Given the description of an element on the screen output the (x, y) to click on. 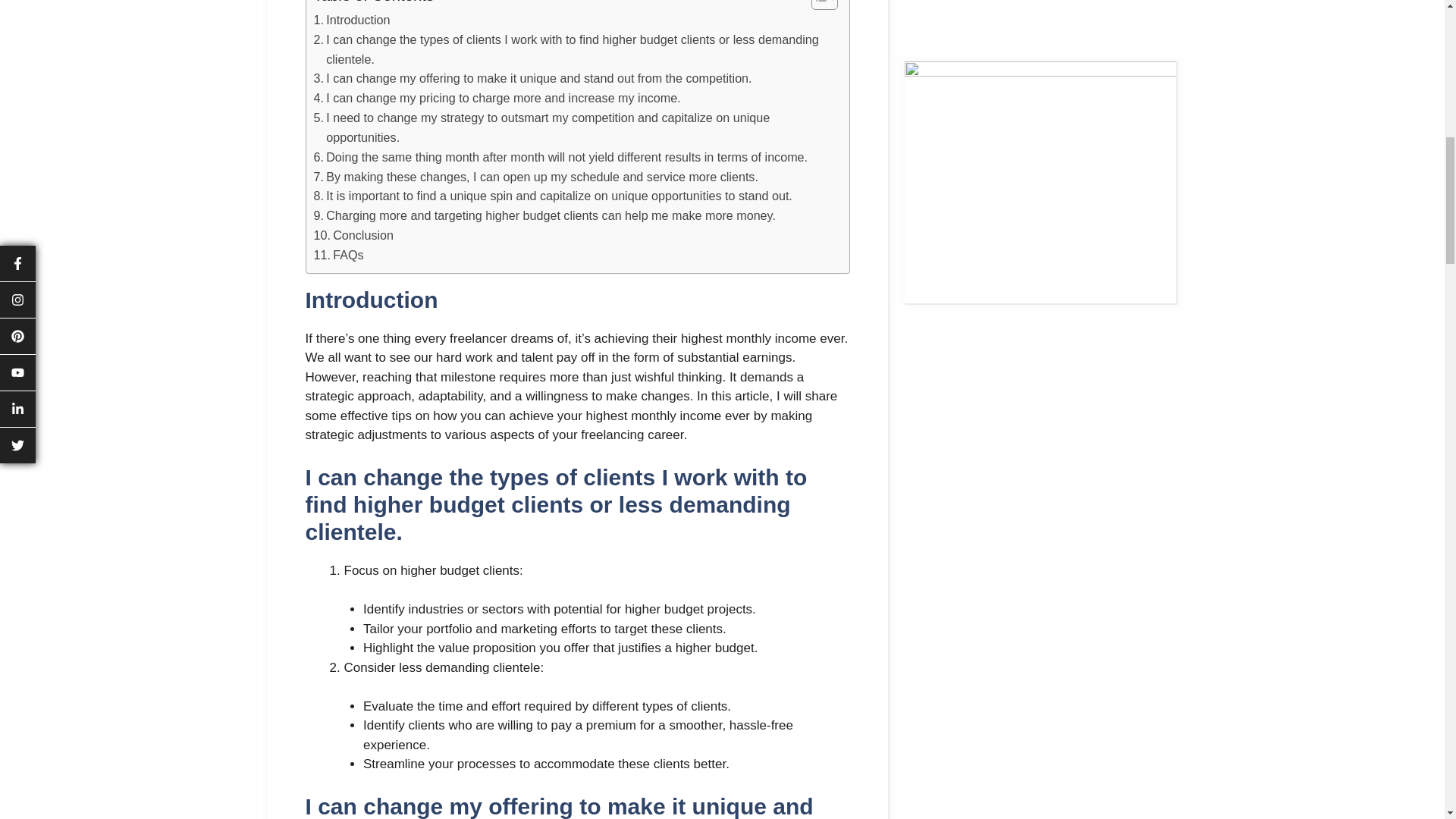
Introduction (352, 20)
Introduction (352, 20)
